Given the description of an element on the screen output the (x, y) to click on. 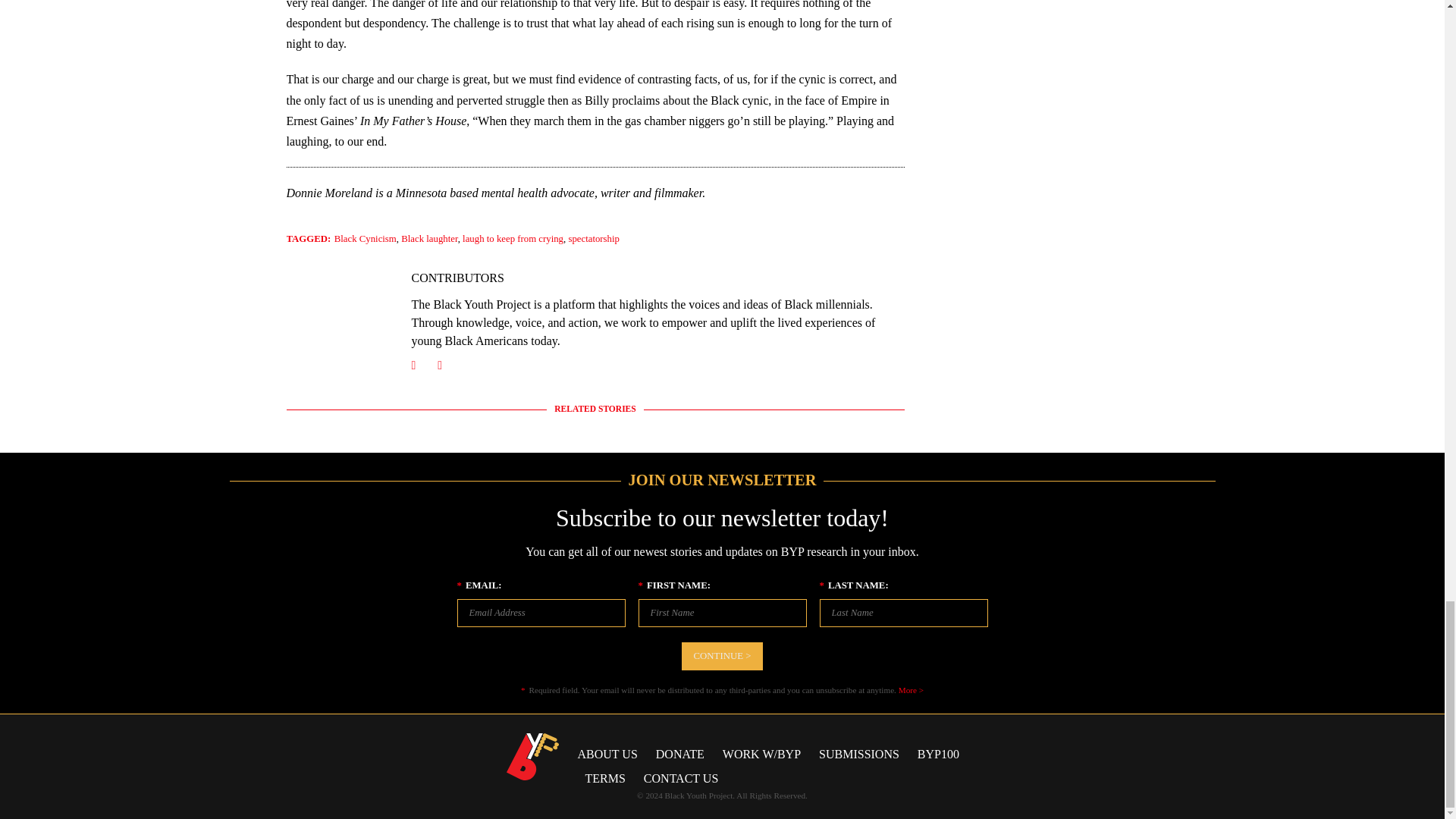
laugh to keep from crying (513, 238)
Black laughter (429, 238)
Posts by Contributors (456, 277)
Black Cynicism (365, 238)
spectatorship (593, 238)
CONTRIBUTORS (456, 277)
